Given the description of an element on the screen output the (x, y) to click on. 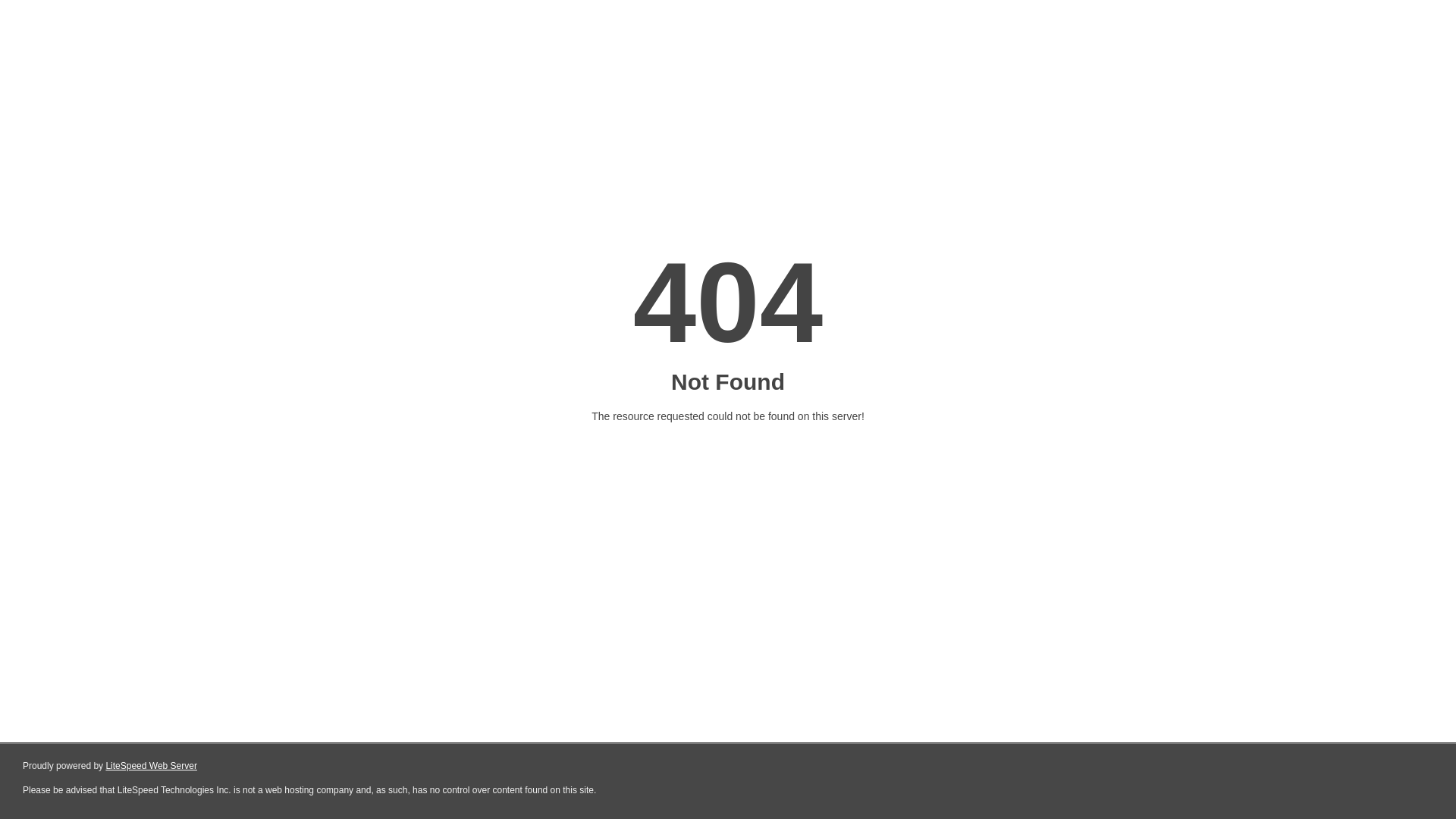
LiteSpeed Web Server Element type: text (151, 765)
